Given the description of an element on the screen output the (x, y) to click on. 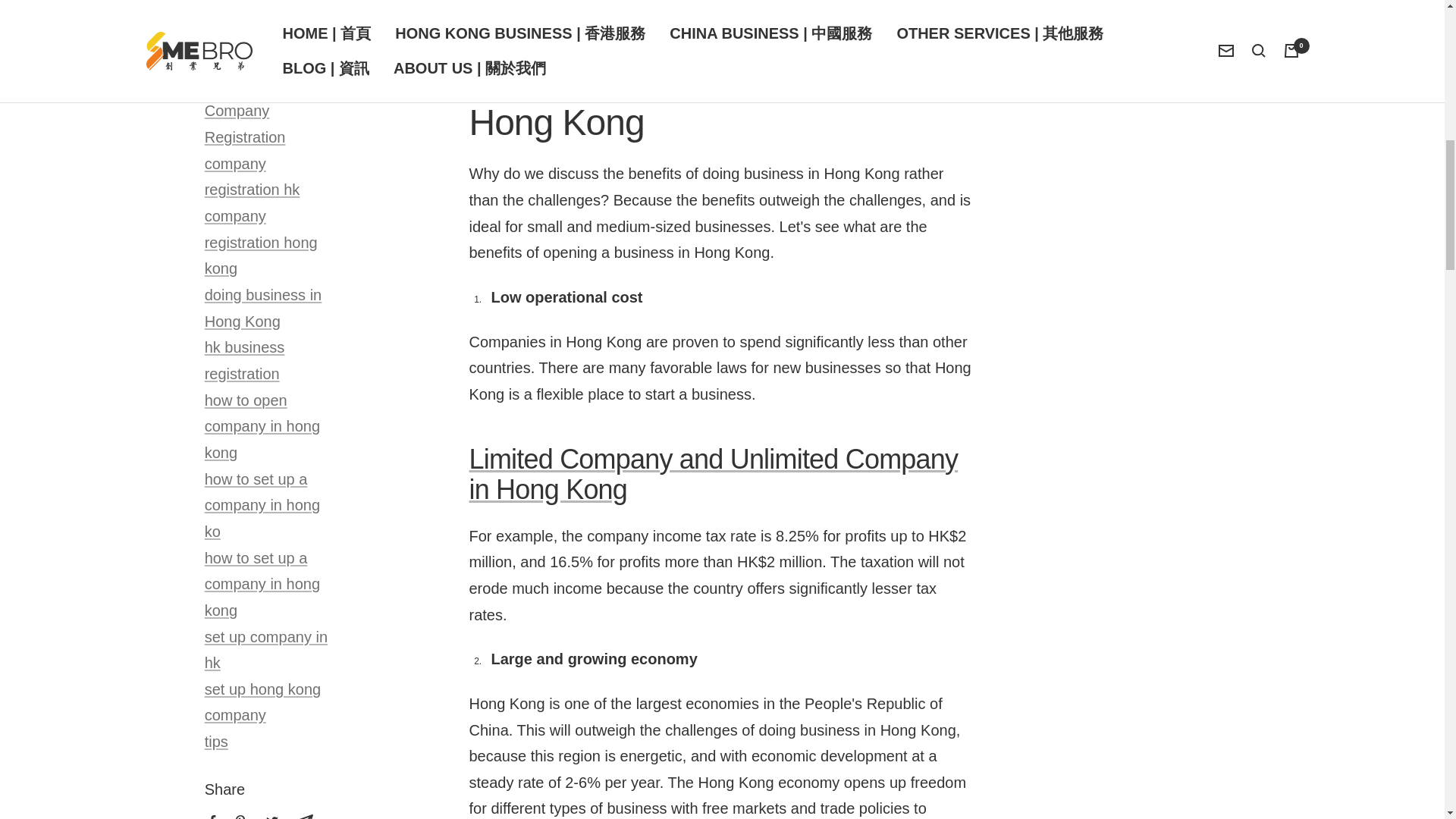
hk business registration (245, 360)
tips (216, 741)
set up hong kong company (262, 701)
how to set up a company in hong kong (262, 584)
how to open company in hong kong (262, 426)
business to the next level (256, 71)
how to set up a company in hong ko (262, 504)
company registration hk (252, 177)
business registration hong kong (261, 20)
set up company in hk (266, 649)
Company Registration (245, 123)
company registration hong kong (261, 242)
doing business in Hong Kong (263, 308)
